Given the description of an element on the screen output the (x, y) to click on. 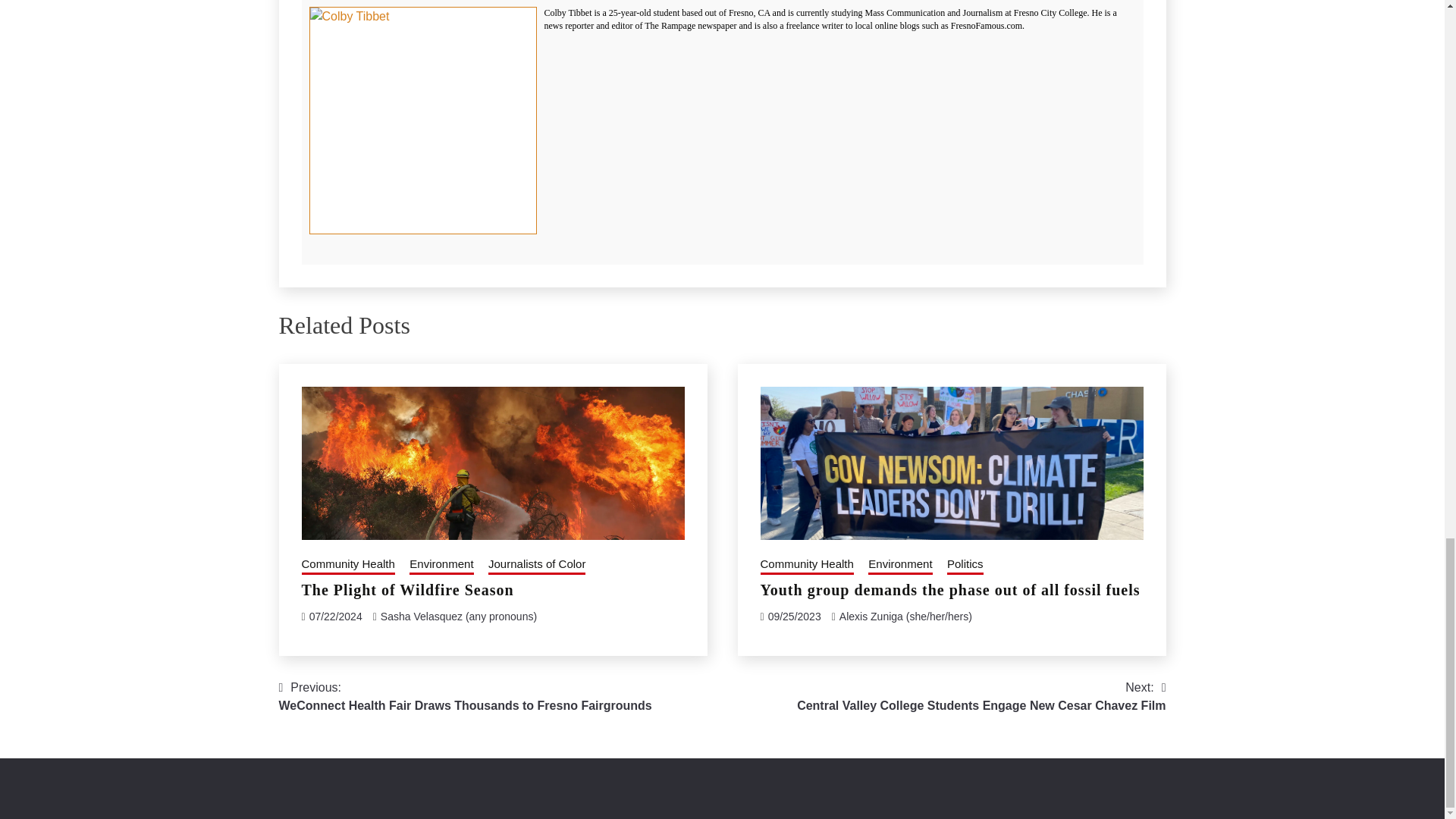
Journalists of Color (536, 565)
Community Health (347, 565)
Environment (441, 565)
The Plight of Wildfire Season (407, 589)
